Given the description of an element on the screen output the (x, y) to click on. 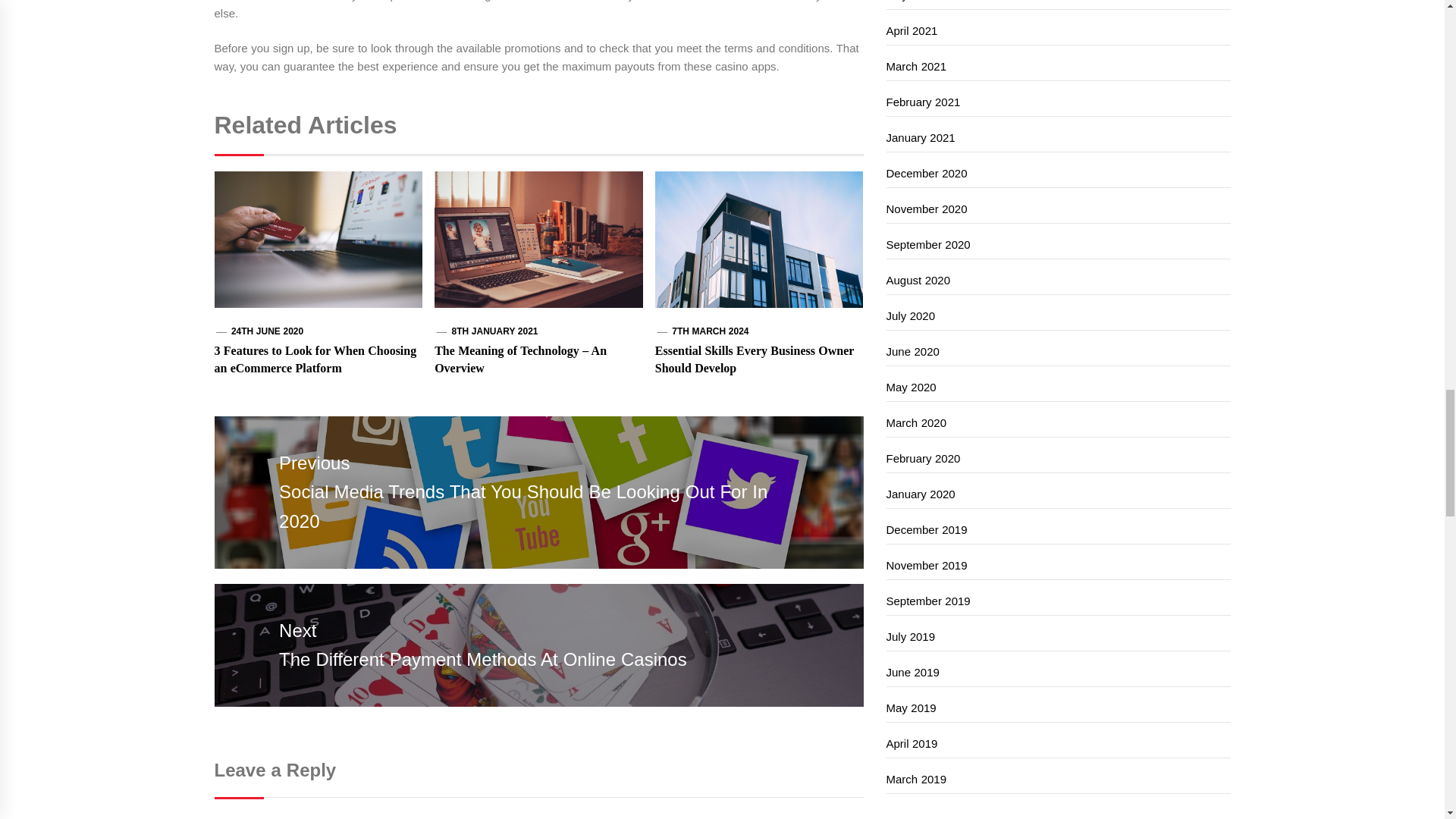
Essential Skills Every Business Owner Should Develop (754, 358)
3 Features to Look for When Choosing an eCommerce Platform (315, 358)
24TH JUNE 2020 (266, 330)
8TH JANUARY 2021 (494, 330)
7TH MARCH 2024 (709, 330)
